Given the description of an element on the screen output the (x, y) to click on. 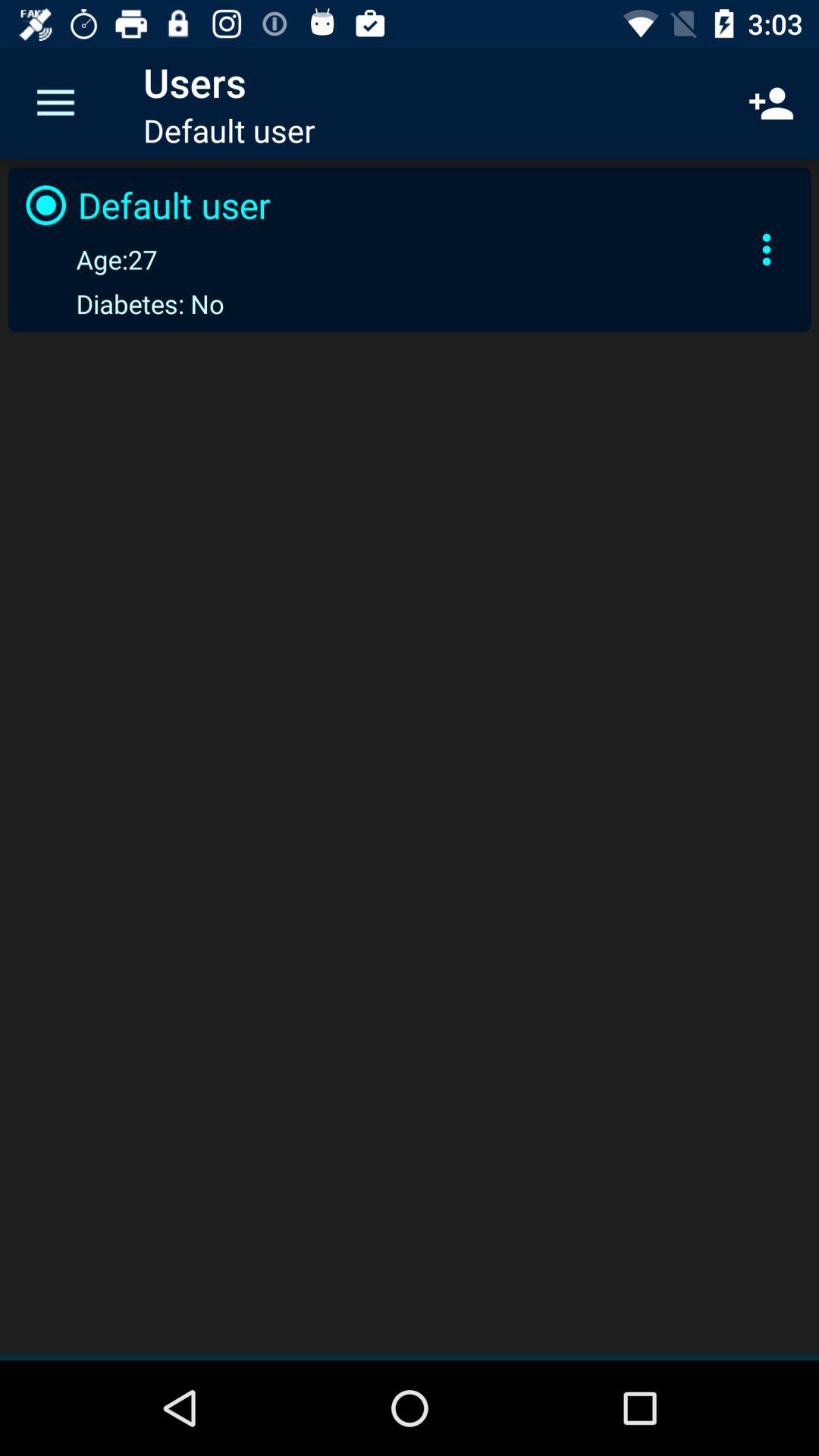
select the item above default user (771, 103)
